Given the description of an element on the screen output the (x, y) to click on. 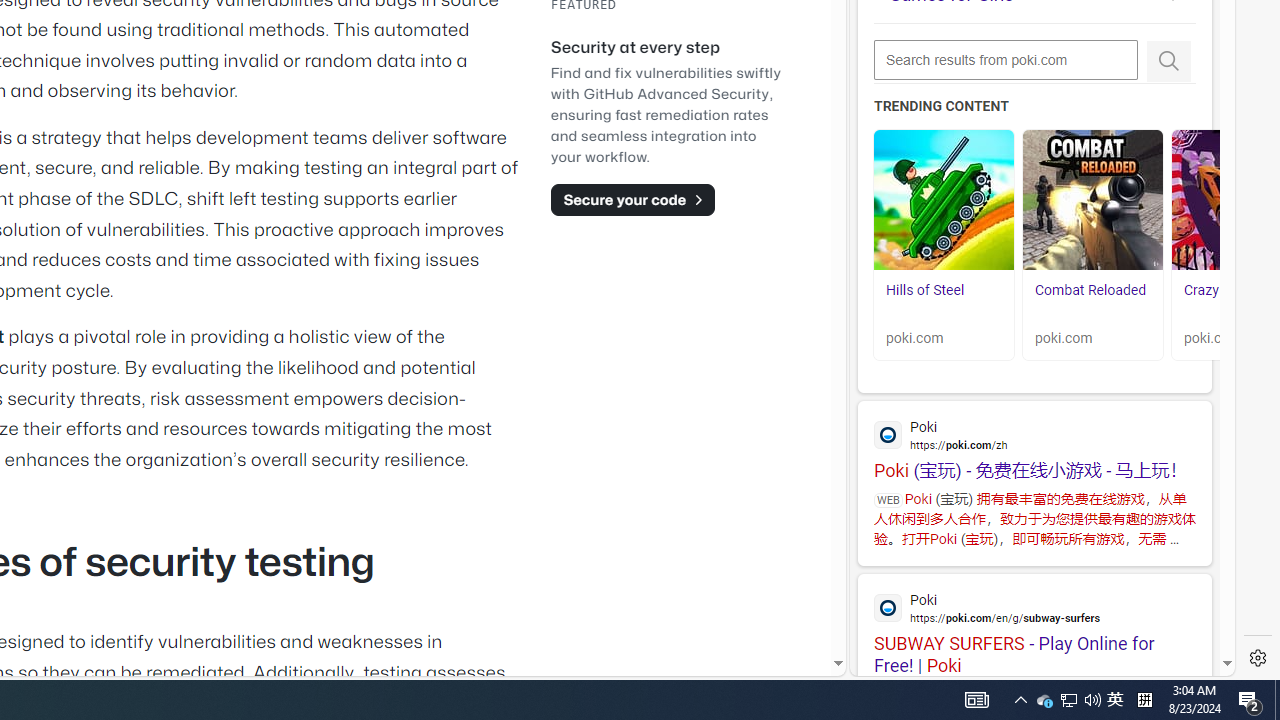
Secure your code (632, 199)
